Given the description of an element on the screen output the (x, y) to click on. 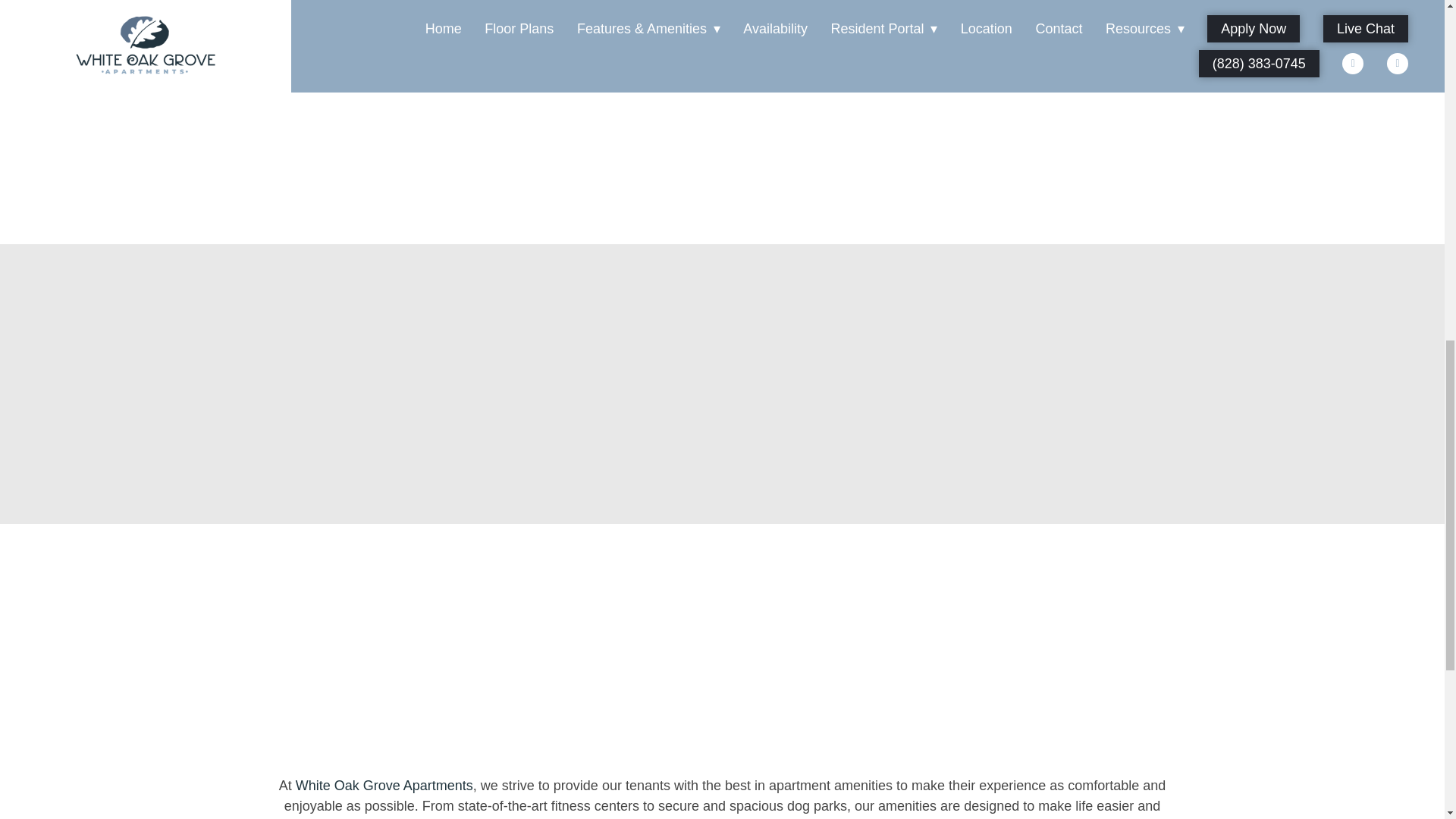
White Oak Grove Apartments (384, 785)
